Given the description of an element on the screen output the (x, y) to click on. 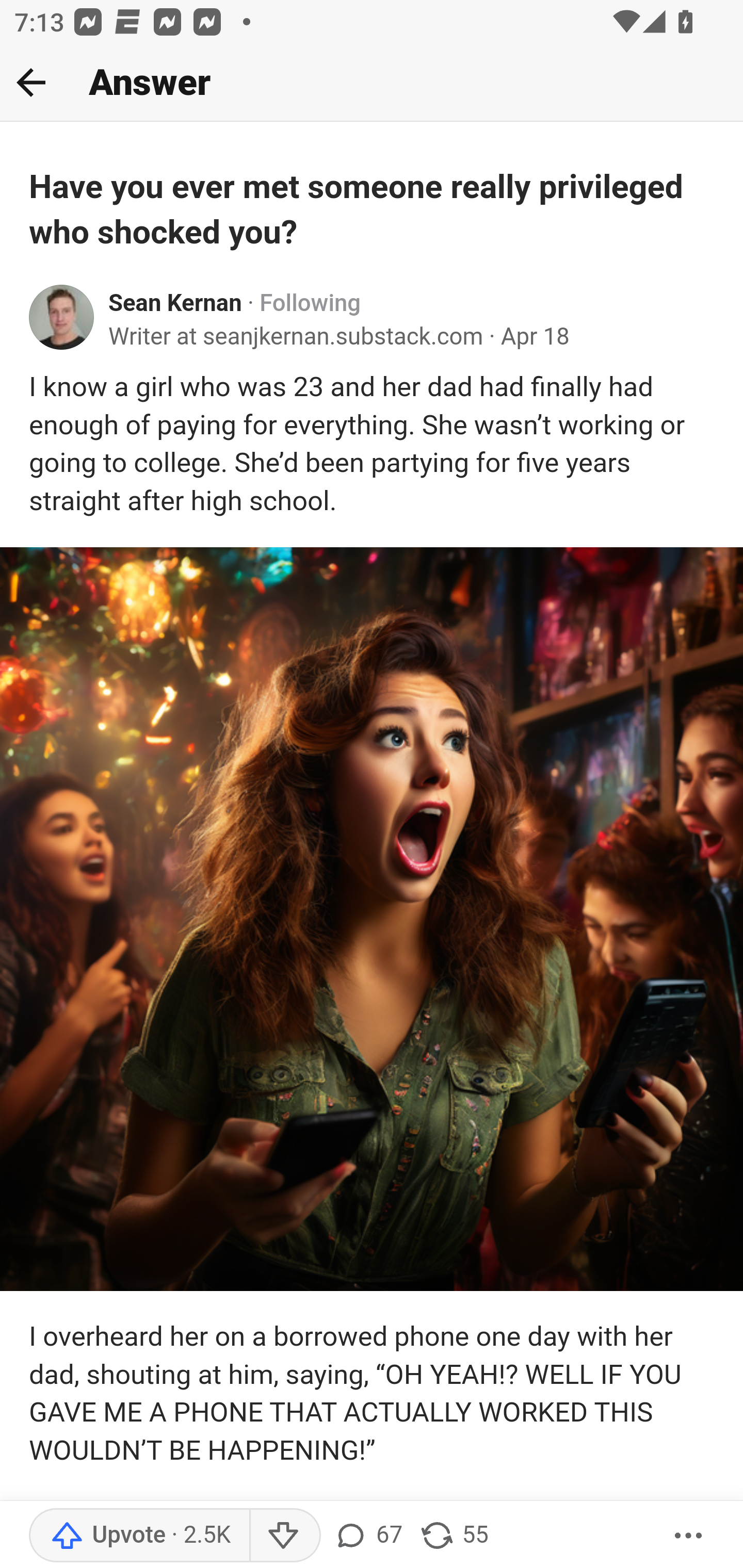
Me Following Search Add (371, 82)
Back (30, 82)
Profile photo for Sean Kernan (61, 317)
Sean Kernan (175, 303)
Following (309, 303)
Apr 18 (535, 336)
main-qimg-cba6d6d5034bdcb4992ee967c8b98a12 (371, 918)
Upvote (138, 1535)
Downvote (283, 1535)
67 comments (366, 1535)
55 shares (453, 1535)
More (688, 1535)
